Given the description of an element on the screen output the (x, y) to click on. 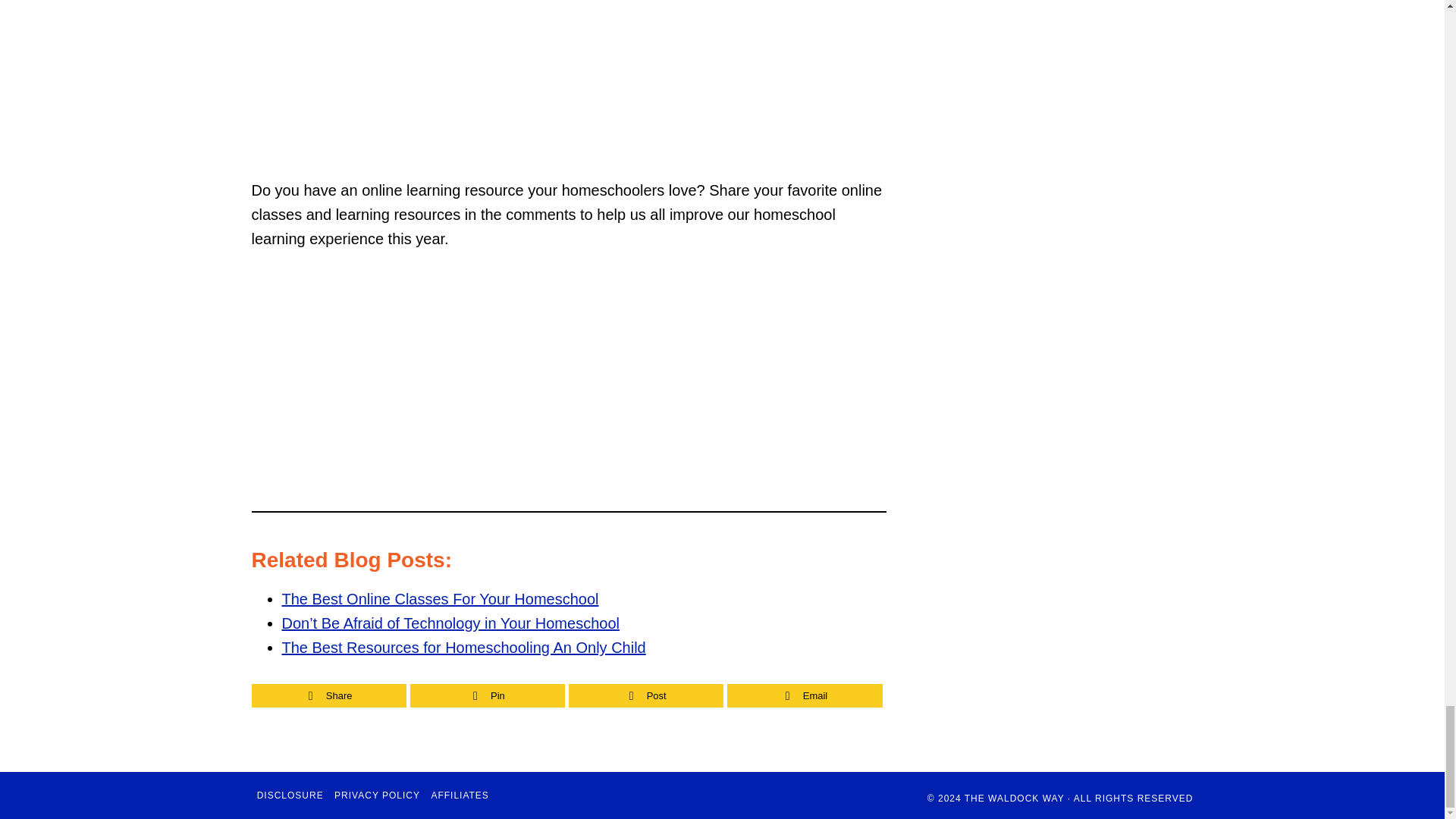
The Best Online Classes For Your Homeschool (440, 598)
Share (327, 695)
The Best Resources for Homeschooling An Only Child (464, 647)
